Given the description of an element on the screen output the (x, y) to click on. 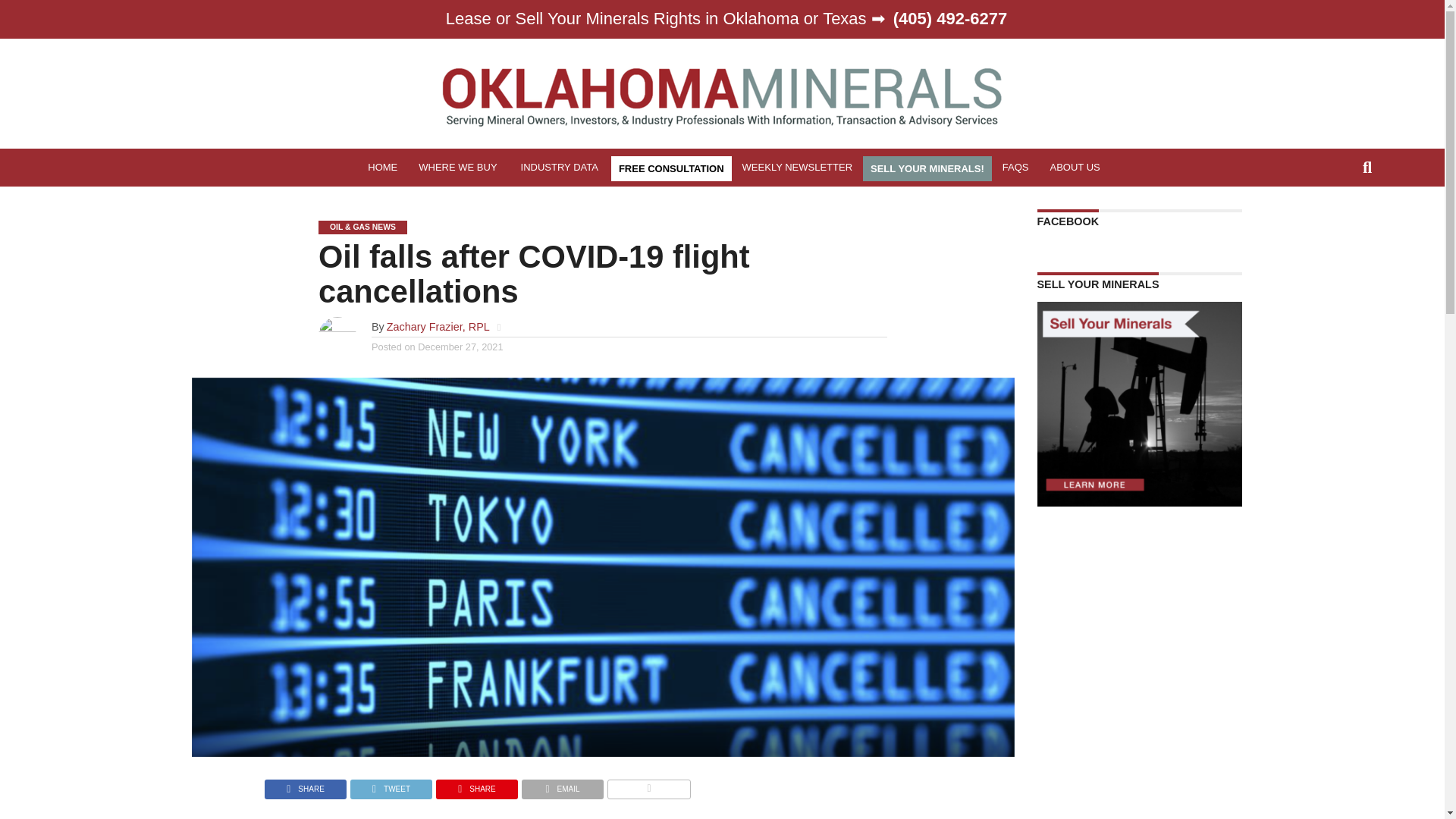
ABOUT US (1075, 167)
FREE CONSULTATION (671, 168)
FAQS (1015, 167)
Share on Facebook (305, 784)
INDUSTRY DATA (561, 167)
Tweet This Post (390, 784)
Posts by Zachary Frazier, RPL (438, 326)
SELL YOUR MINERALS! (927, 168)
HOME (381, 167)
Pin This Post (476, 784)
WHERE WE BUY (458, 167)
WEEKLY NEWSLETTER (797, 167)
